Given the description of an element on the screen output the (x, y) to click on. 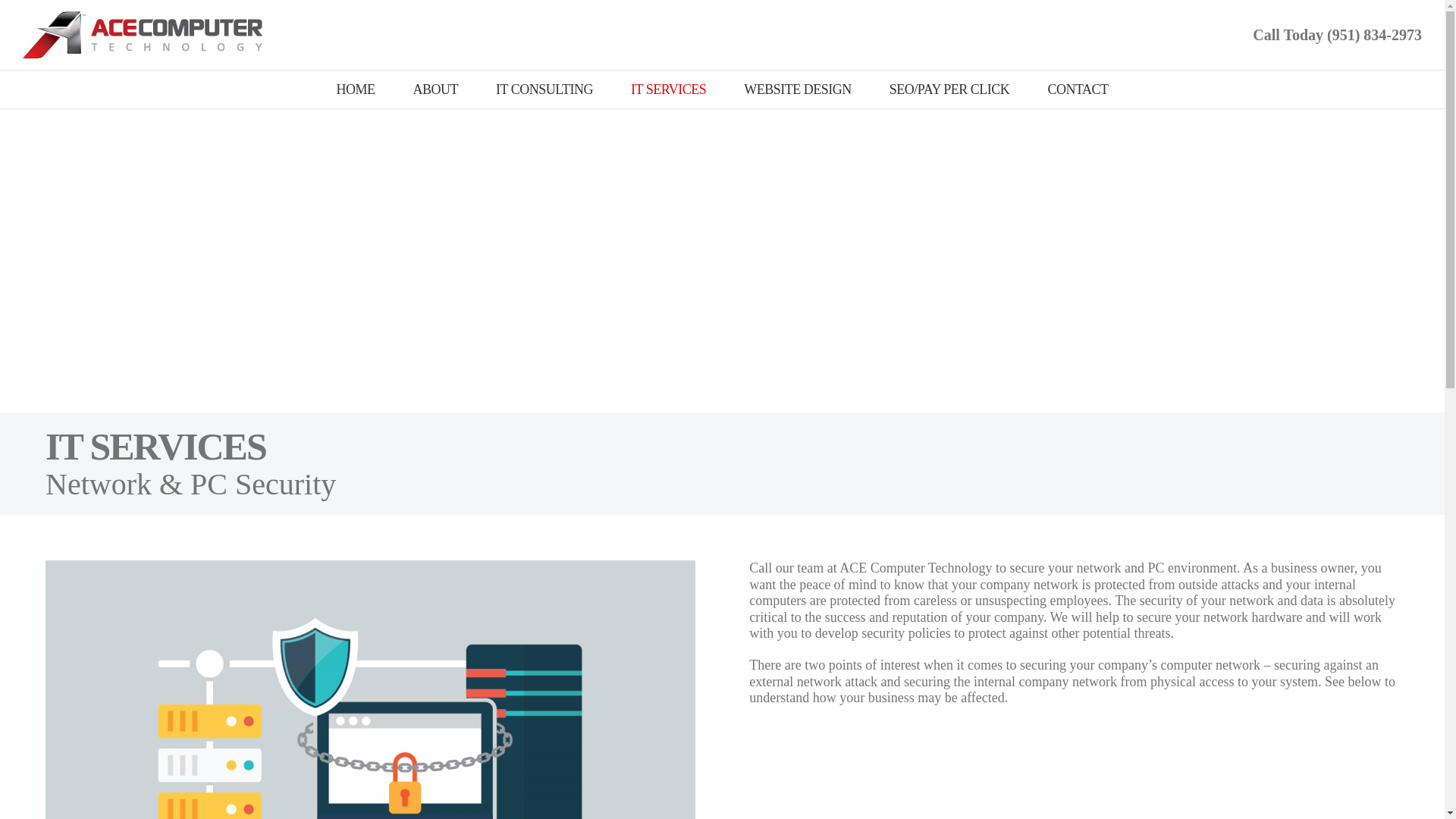
ABOUT (435, 89)
IT-Services-Network-PC-Security-Graphic (369, 708)
IT SERVICES (668, 89)
HOME (355, 89)
WEBSITE DESIGN (797, 89)
IT CONSULTING (544, 89)
CONTACT (1077, 89)
